Given the description of an element on the screen output the (x, y) to click on. 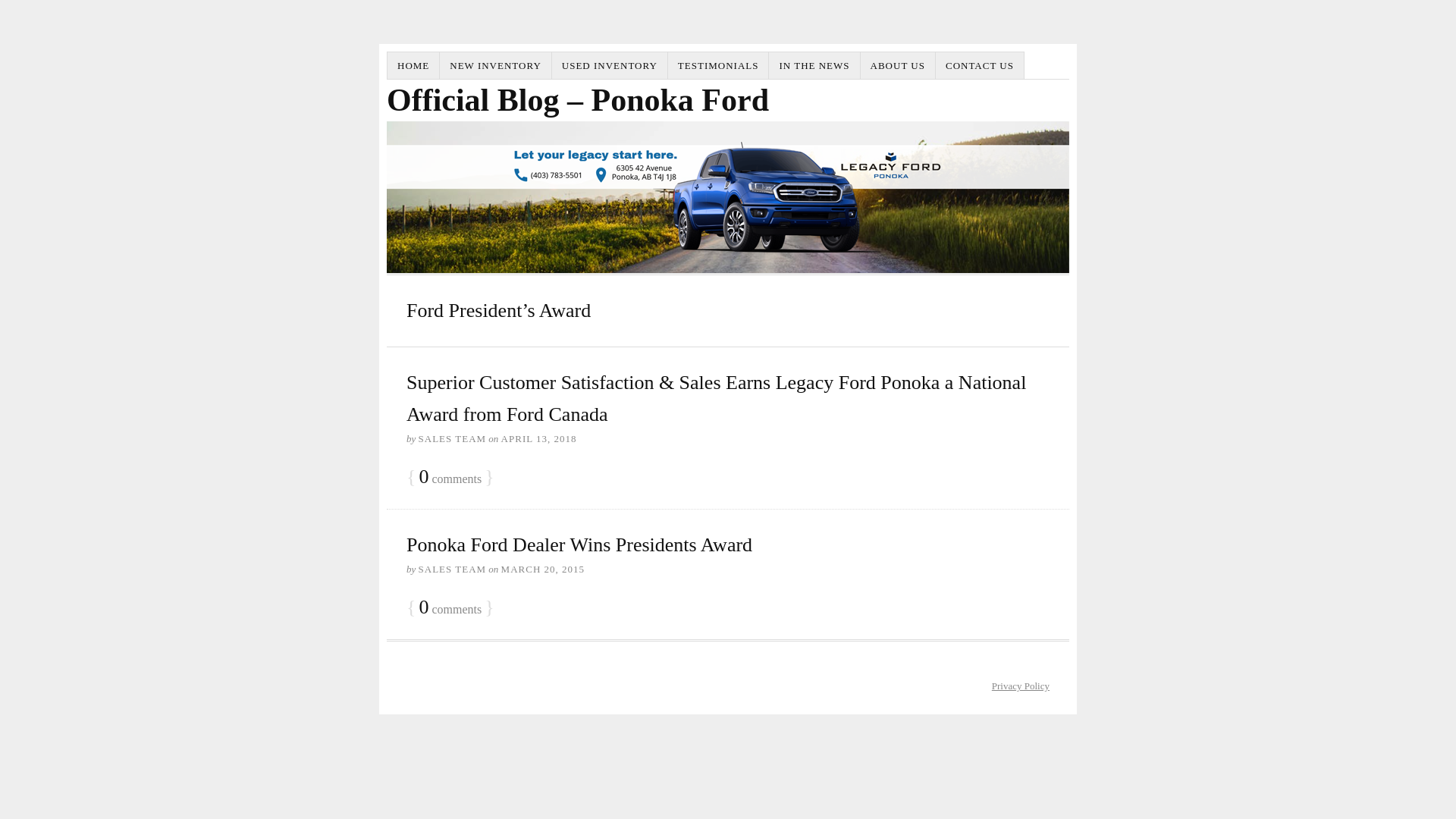
Privacy Policy Element type: text (1020, 685)
HOME Element type: text (413, 65)
0 comments Element type: text (449, 608)
NEW INVENTORY Element type: text (495, 65)
Ponoka Ford Dealer Wins Presidents Award Element type: text (579, 544)
IN THE NEWS Element type: text (813, 65)
0 comments Element type: text (449, 478)
ABOUT US Element type: text (897, 65)
TESTIMONIALS Element type: text (718, 65)
USED INVENTORY Element type: text (610, 65)
CONTACT US Element type: text (979, 65)
